Given the description of an element on the screen output the (x, y) to click on. 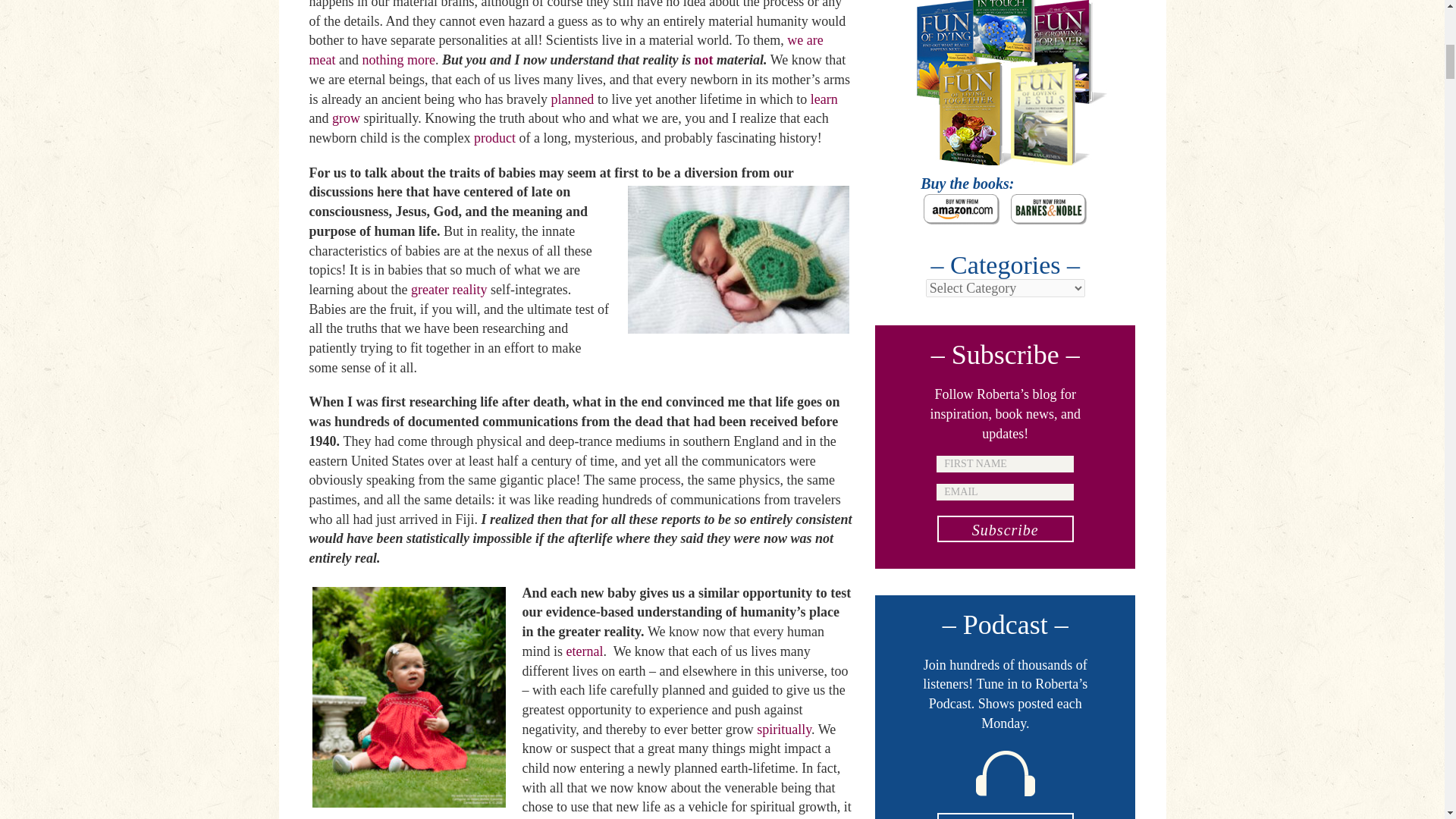
greater reality (448, 289)
spiritually (783, 729)
eternal (585, 651)
we are meat (566, 49)
nothing more (398, 59)
learn (824, 99)
product (494, 137)
not (703, 59)
Subscribe (1005, 528)
grow (345, 118)
planned (572, 99)
